Given the description of an element on the screen output the (x, y) to click on. 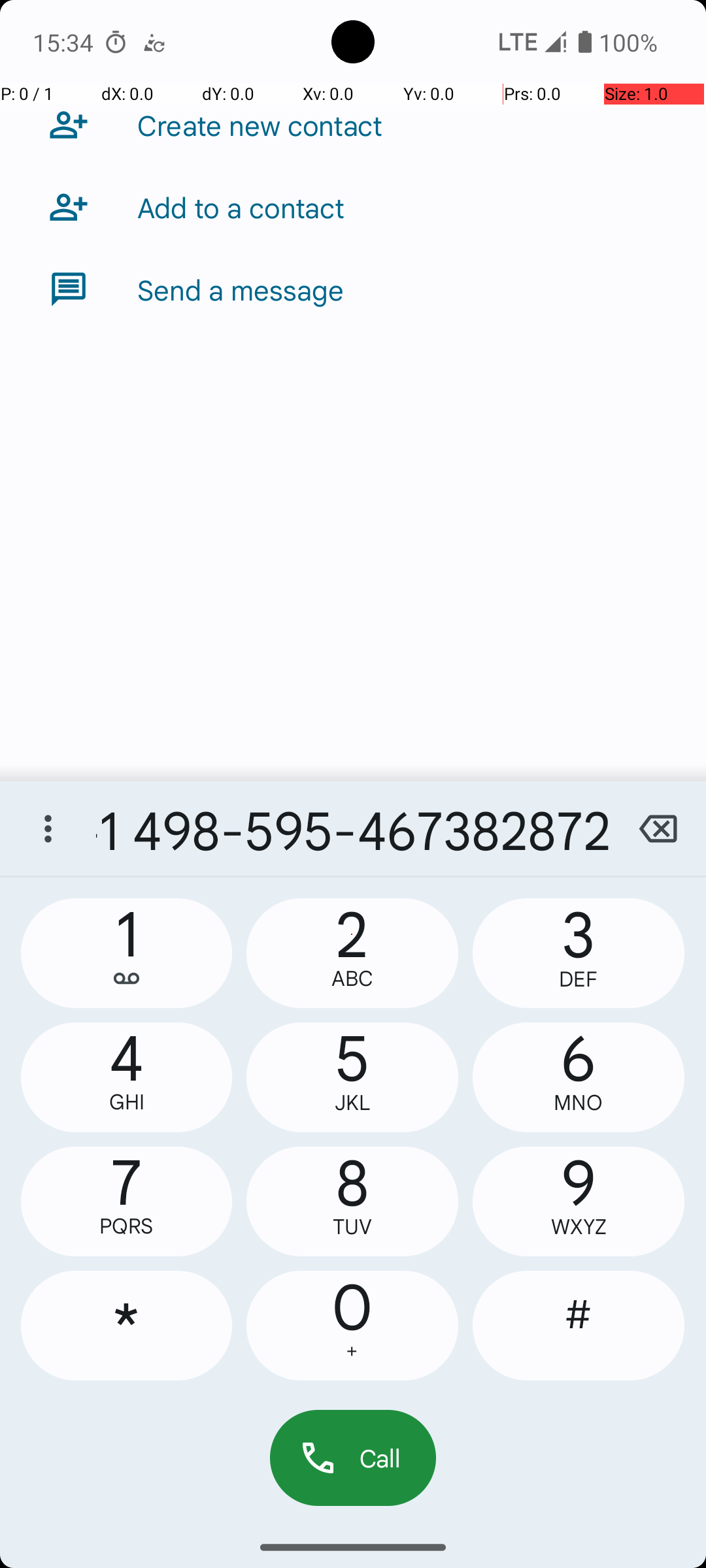
+1 498-595-467382872 Element type: android.widget.EditText (352, 828)
